Given the description of an element on the screen output the (x, y) to click on. 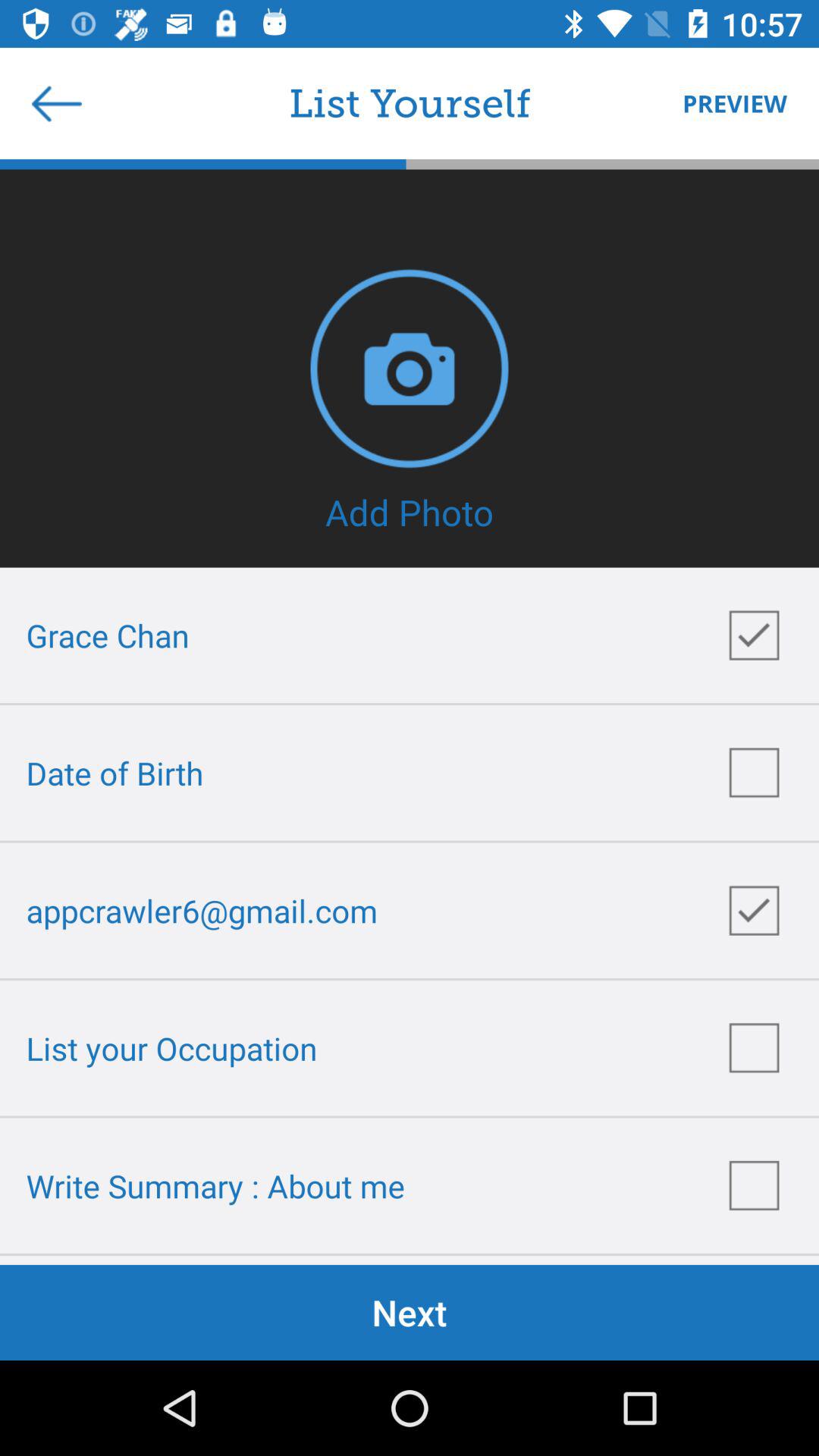
return to previous screen (56, 103)
